Given the description of an element on the screen output the (x, y) to click on. 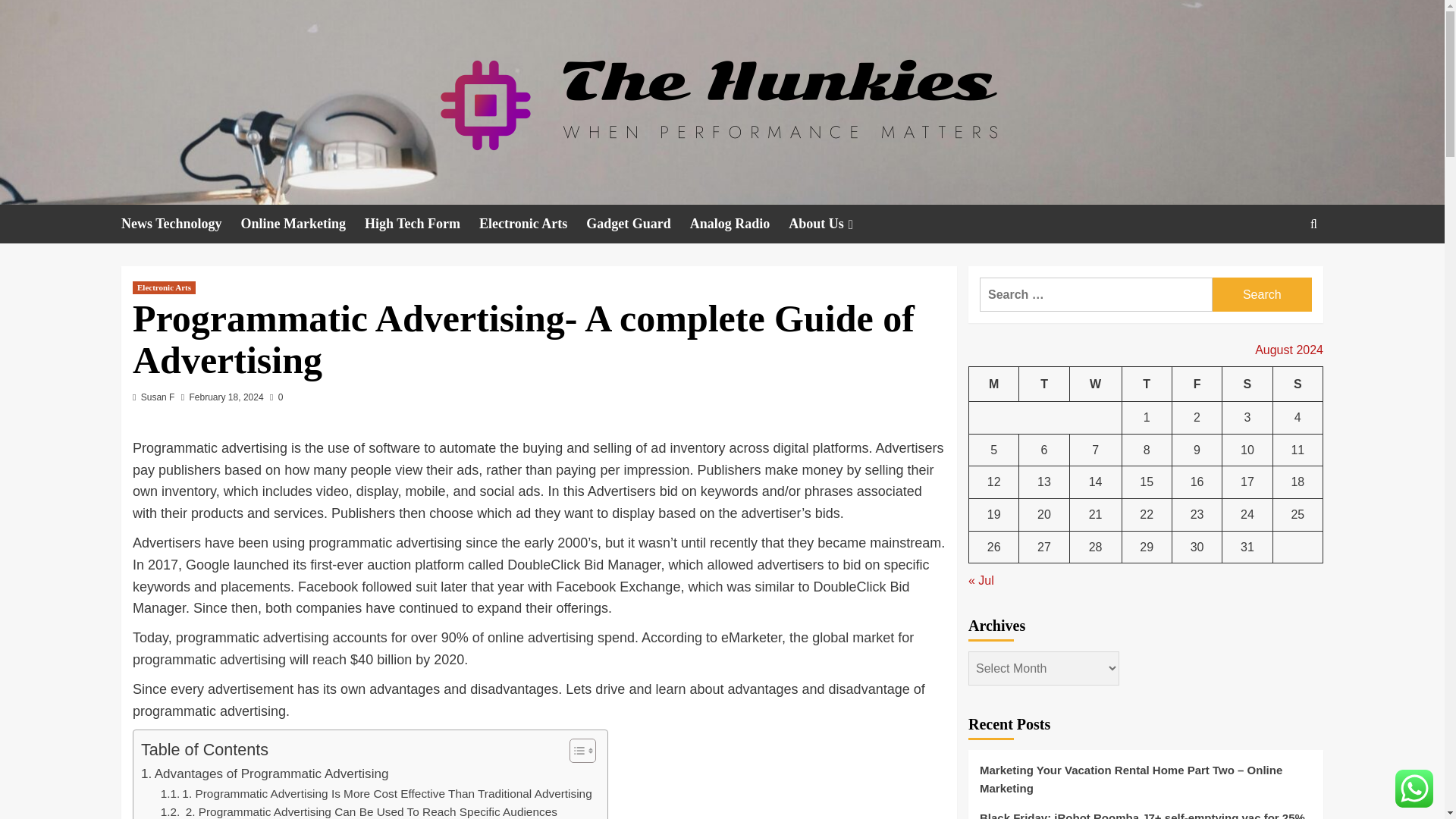
Advantages of Programmatic Advertising (264, 773)
Analog Radio (739, 223)
About Us (832, 223)
February 18, 2024 (226, 397)
Gadget Guard (638, 223)
Susan F (157, 397)
News Technology (180, 223)
Search (1261, 294)
0 (275, 397)
Online Marketing (303, 223)
Electronic Arts (163, 287)
Electronic Arts (532, 223)
